Given the description of an element on the screen output the (x, y) to click on. 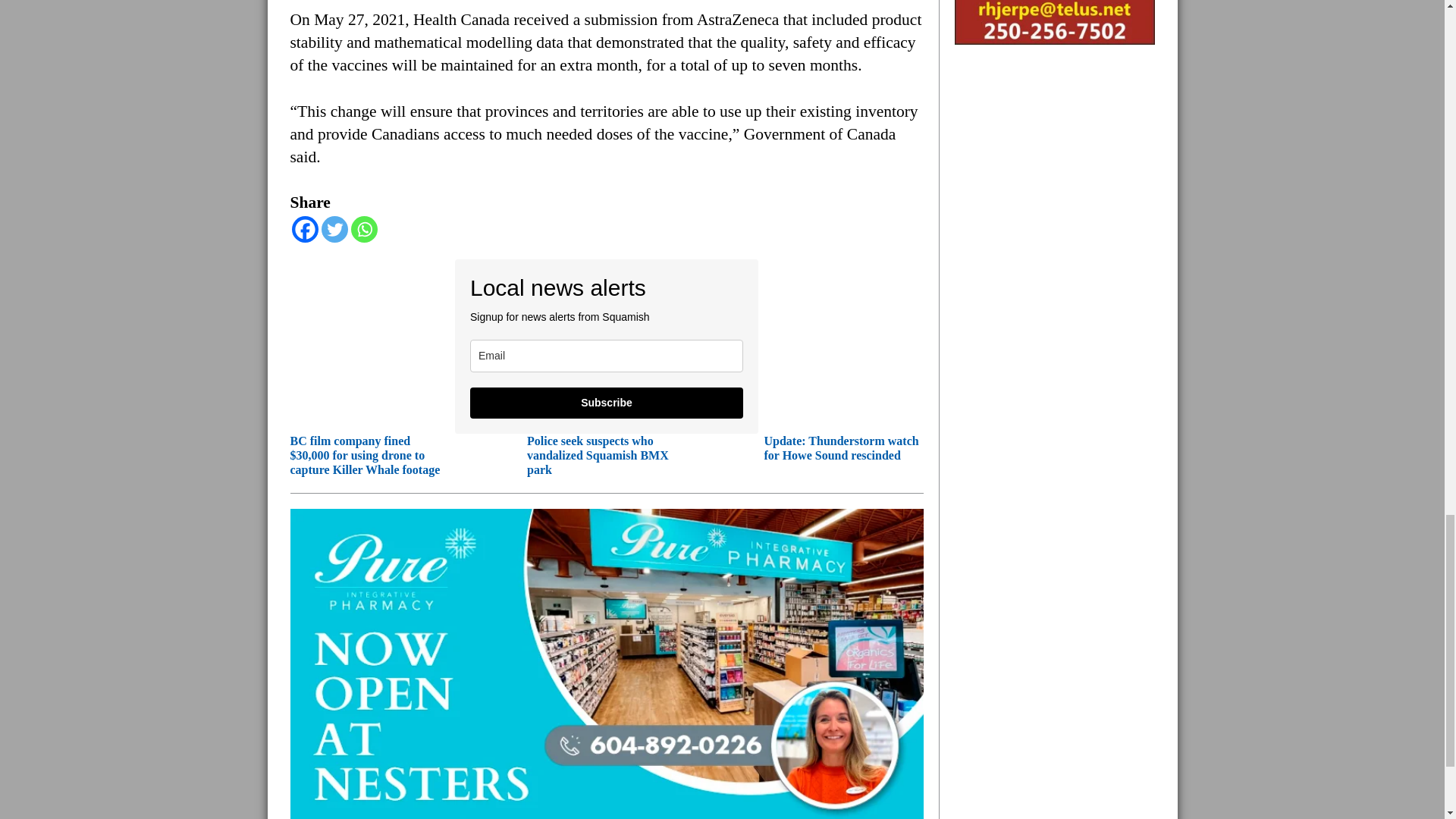
Twitter (334, 229)
Whatsapp (363, 229)
Subscribe (606, 402)
Facebook (304, 229)
